Given the description of an element on the screen output the (x, y) to click on. 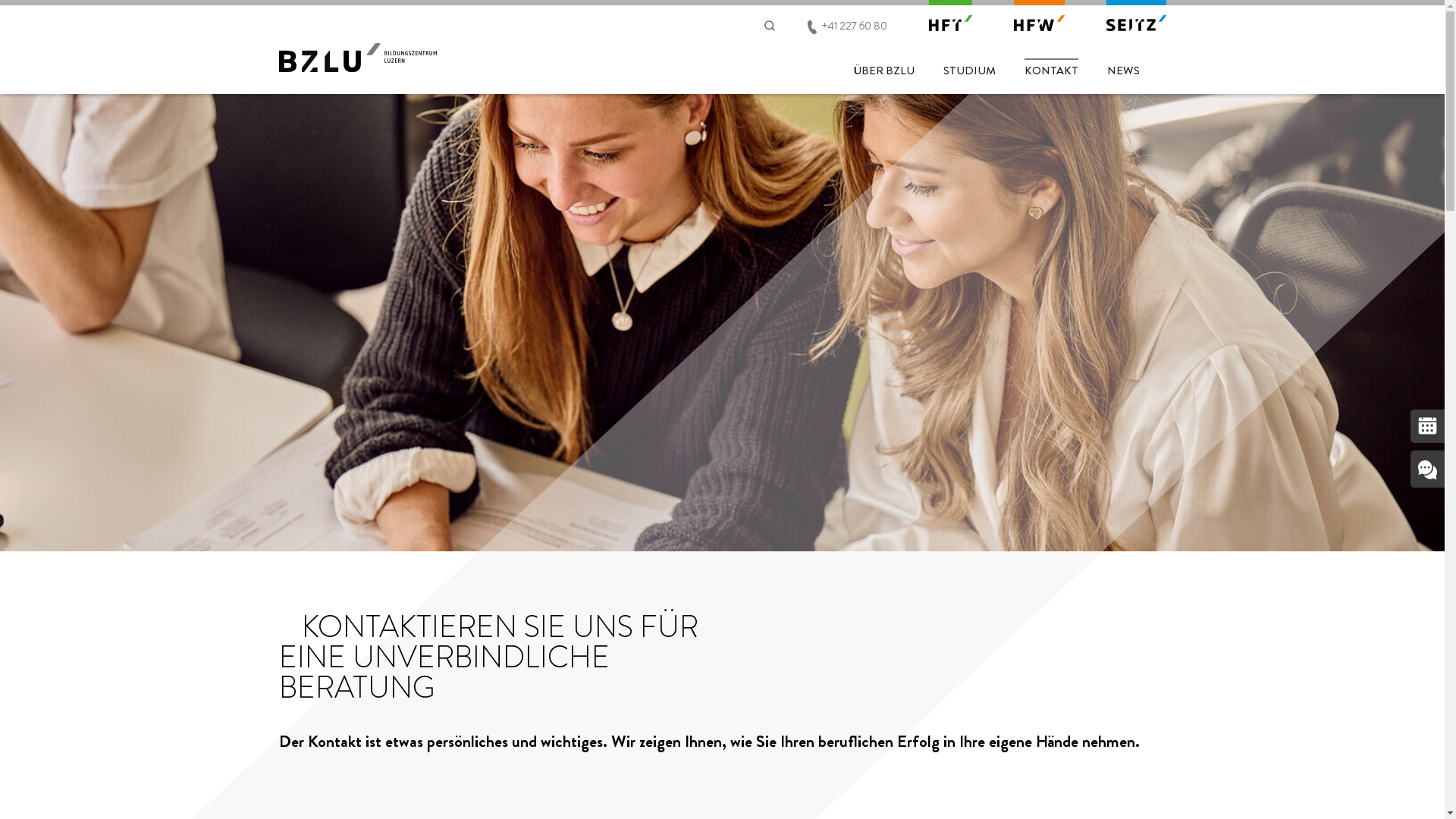
+41 227 60 80 Element type: text (854, 24)
NEWS Element type: text (1123, 68)
KONTAKT Element type: text (1050, 68)
